Given the description of an element on the screen output the (x, y) to click on. 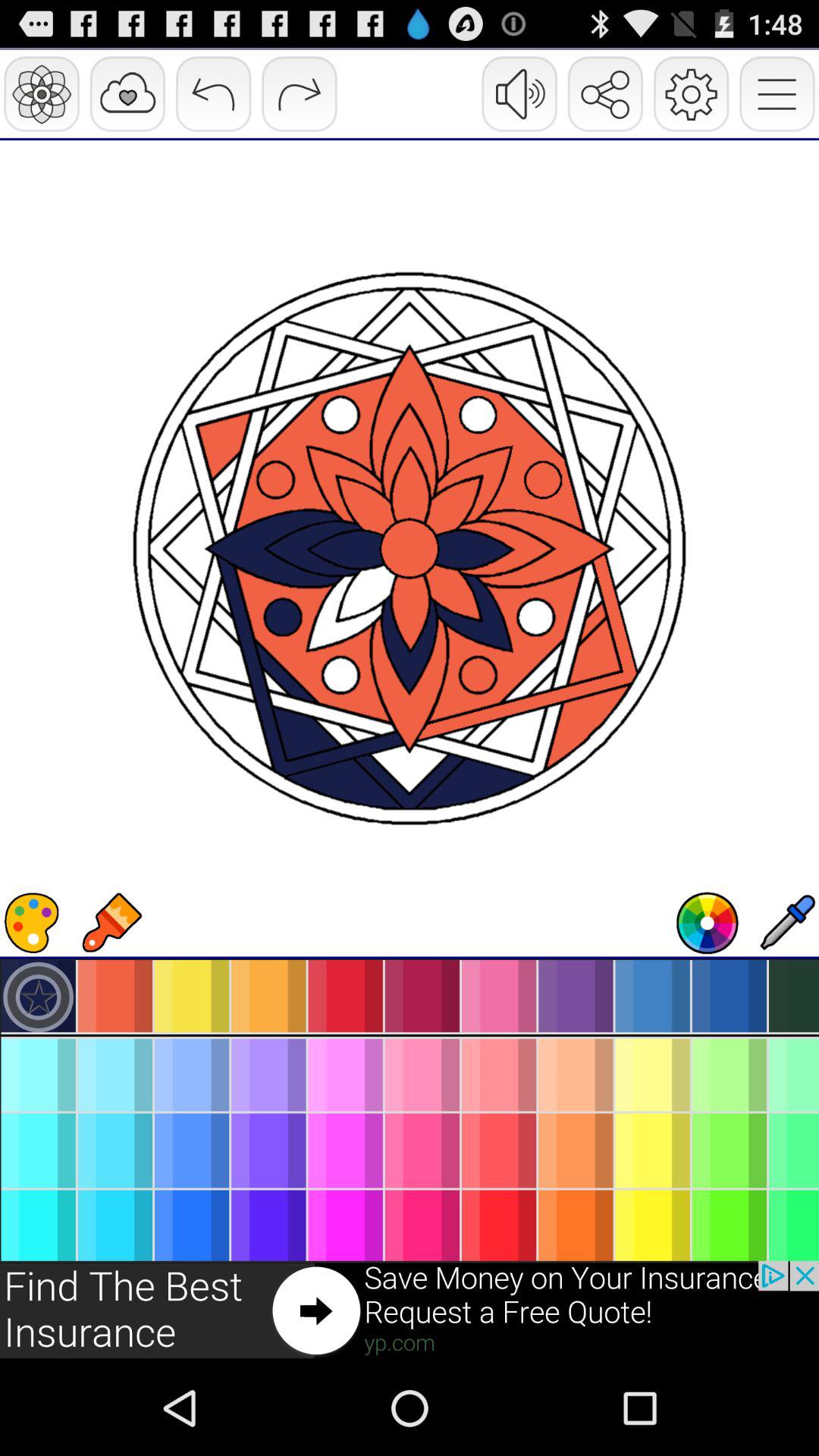
auto coloring (707, 922)
